Given the description of an element on the screen output the (x, y) to click on. 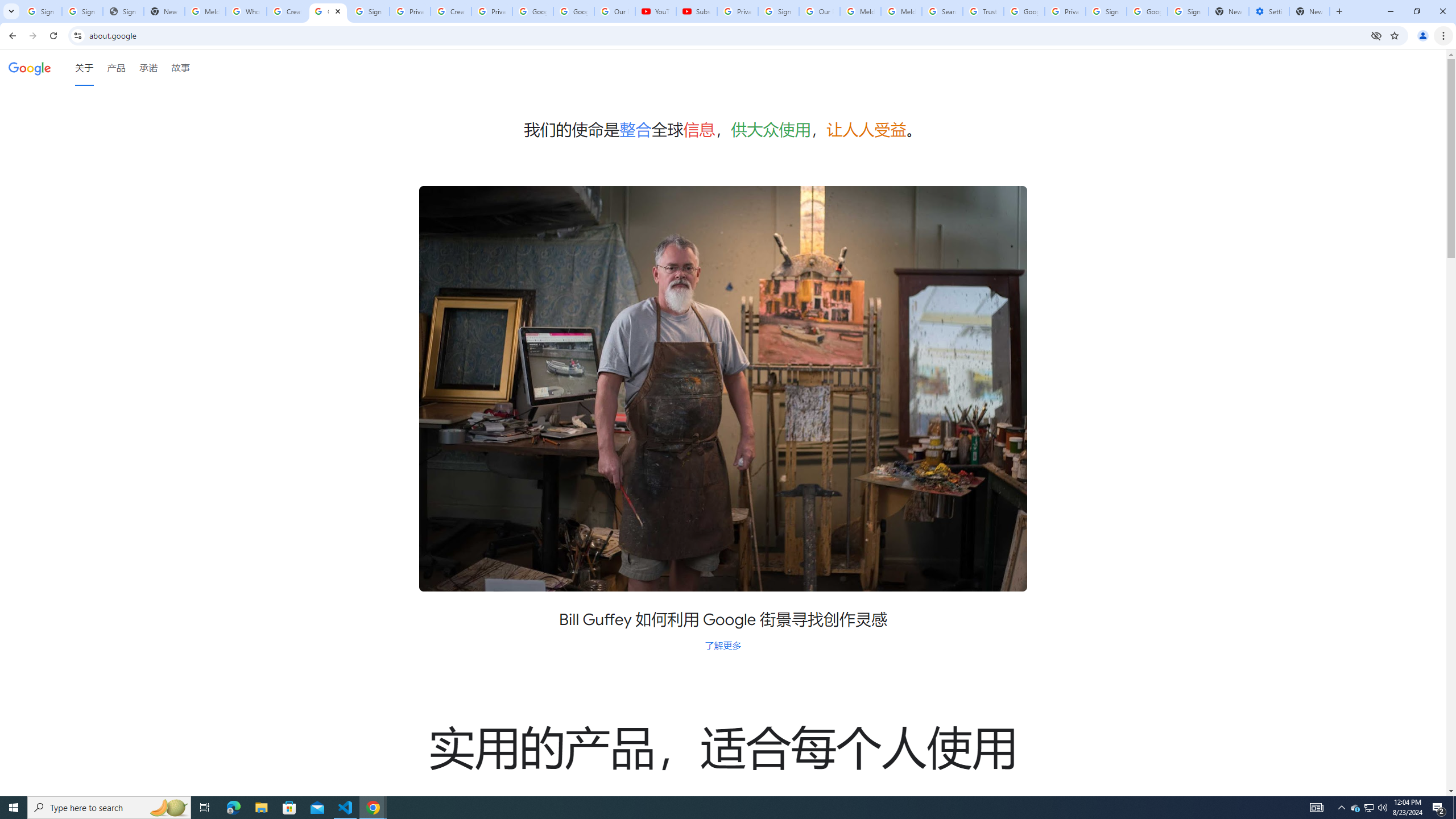
YouTube (655, 11)
Trusted Information and Content - Google Safety Center (983, 11)
New Tab (1309, 11)
Sign in - Google Accounts (1105, 11)
Sign in - Google Accounts (1187, 11)
Google Account (573, 11)
